Given the description of an element on the screen output the (x, y) to click on. 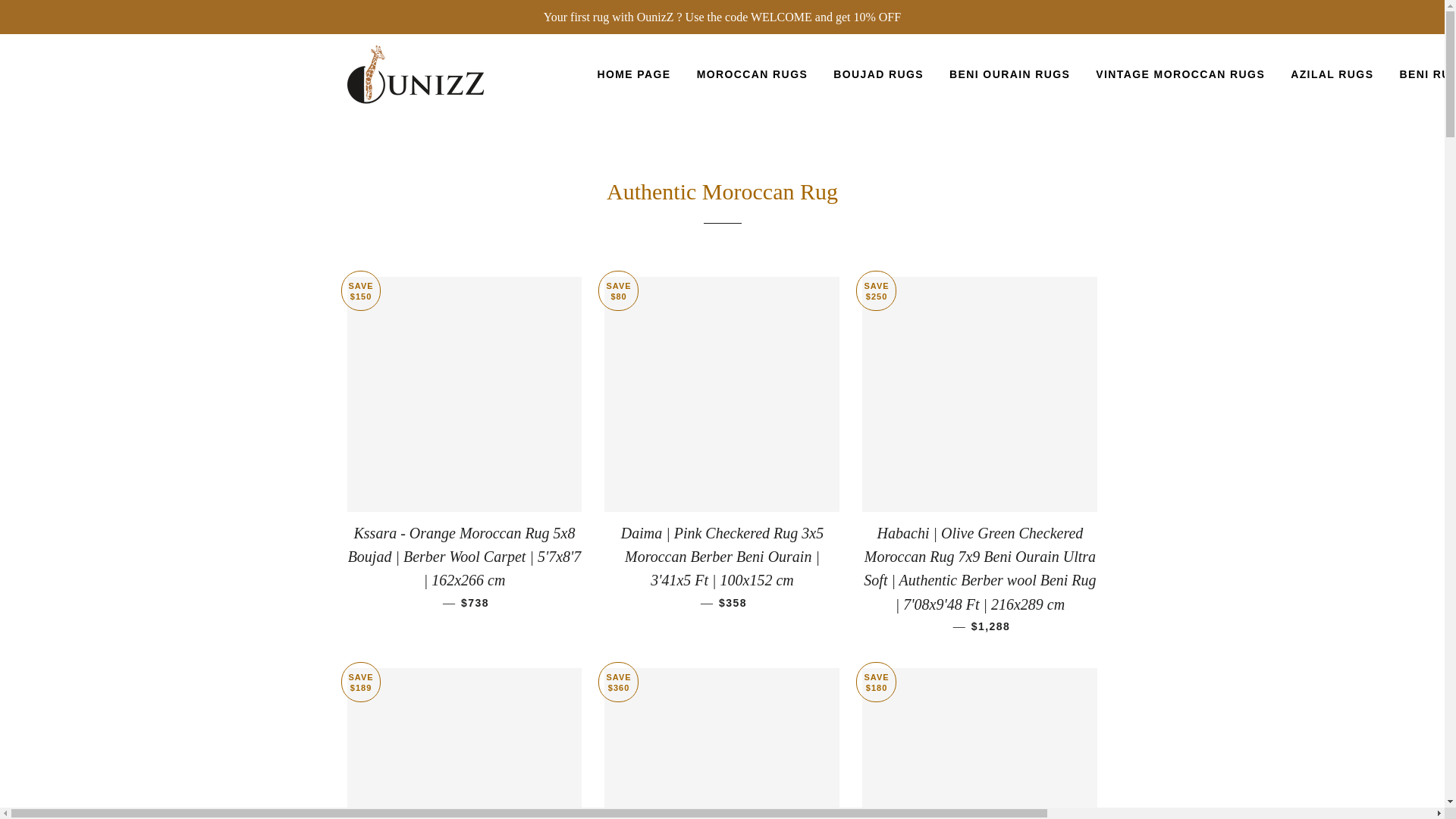
HOME PAGE (633, 75)
BENI OURAIN RUGS (1009, 75)
MOROCCAN RUGS (752, 75)
VINTAGE MOROCCAN RUGS (1180, 75)
BENI RUGS (1421, 75)
AZILAL RUGS (1331, 75)
BOUJAD RUGS (878, 75)
